Given the description of an element on the screen output the (x, y) to click on. 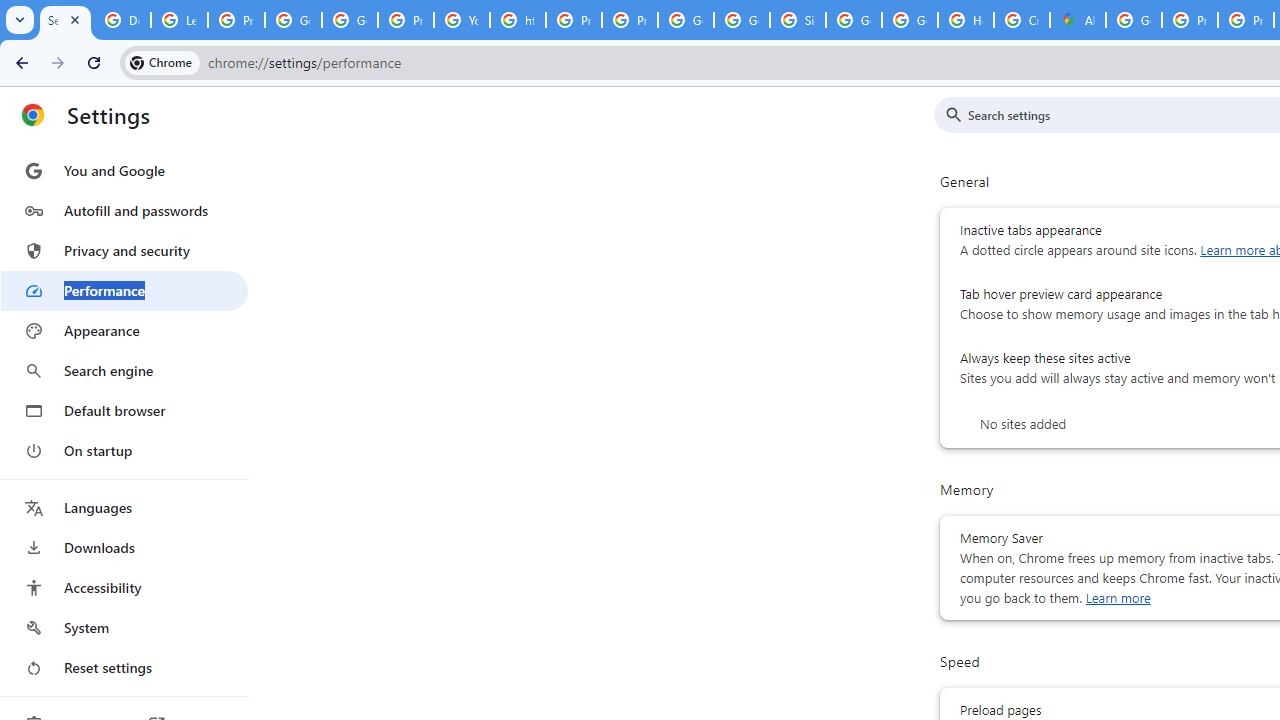
Privacy Help Center - Policies Help (573, 20)
Privacy Help Center - Policies Help (1190, 20)
Default browser (124, 410)
YouTube (461, 20)
Privacy and security (124, 250)
Autofill and passwords (124, 210)
Search engine (124, 370)
